Given the description of an element on the screen output the (x, y) to click on. 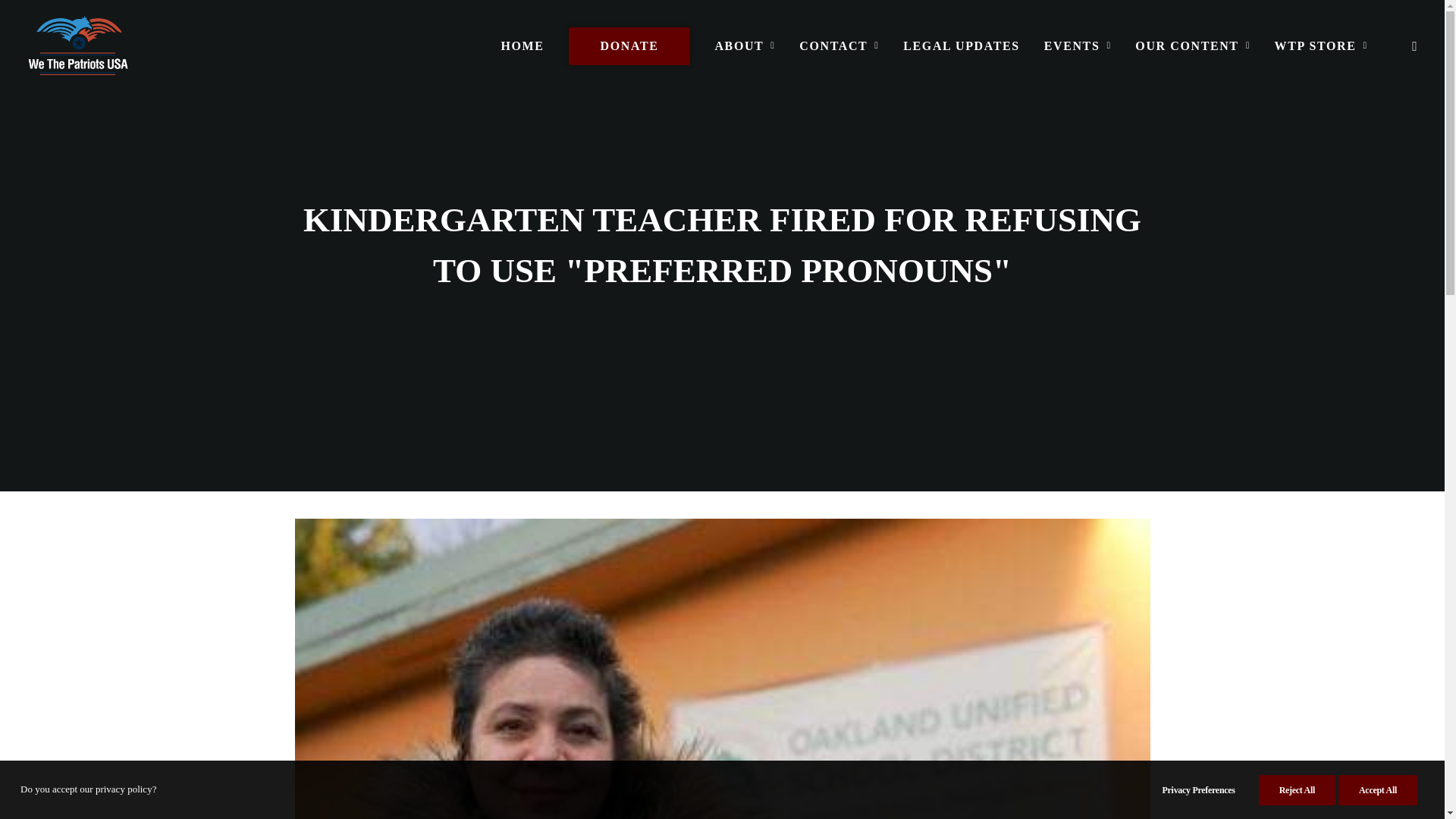
LEGAL UPDATES (960, 45)
ABOUT (744, 45)
CONTACT (839, 45)
Donate (629, 46)
OUR CONTENT (1192, 45)
WTP STORE (1315, 45)
Legal Updates (960, 45)
EVENTS (1077, 45)
DONATE (629, 46)
Contact (839, 45)
